Given the description of an element on the screen output the (x, y) to click on. 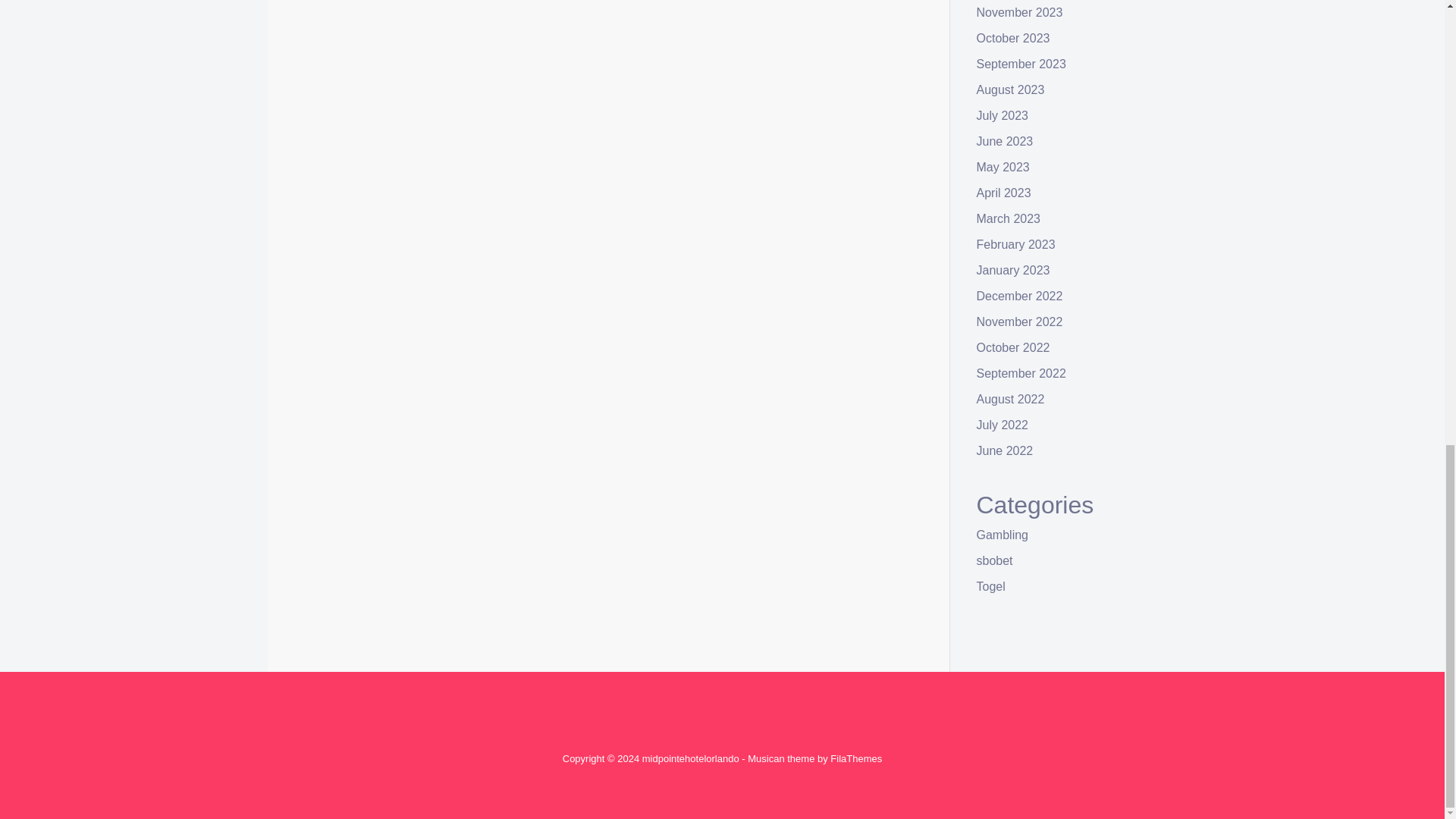
November 2022 (1019, 321)
August 2023 (1010, 89)
October 2023 (1012, 38)
midpointehotelorlando (690, 758)
June 2023 (1004, 141)
January 2023 (1012, 269)
March 2023 (1008, 218)
July 2023 (1002, 115)
December 2022 (1019, 295)
November 2023 (1019, 11)
